Given the description of an element on the screen output the (x, y) to click on. 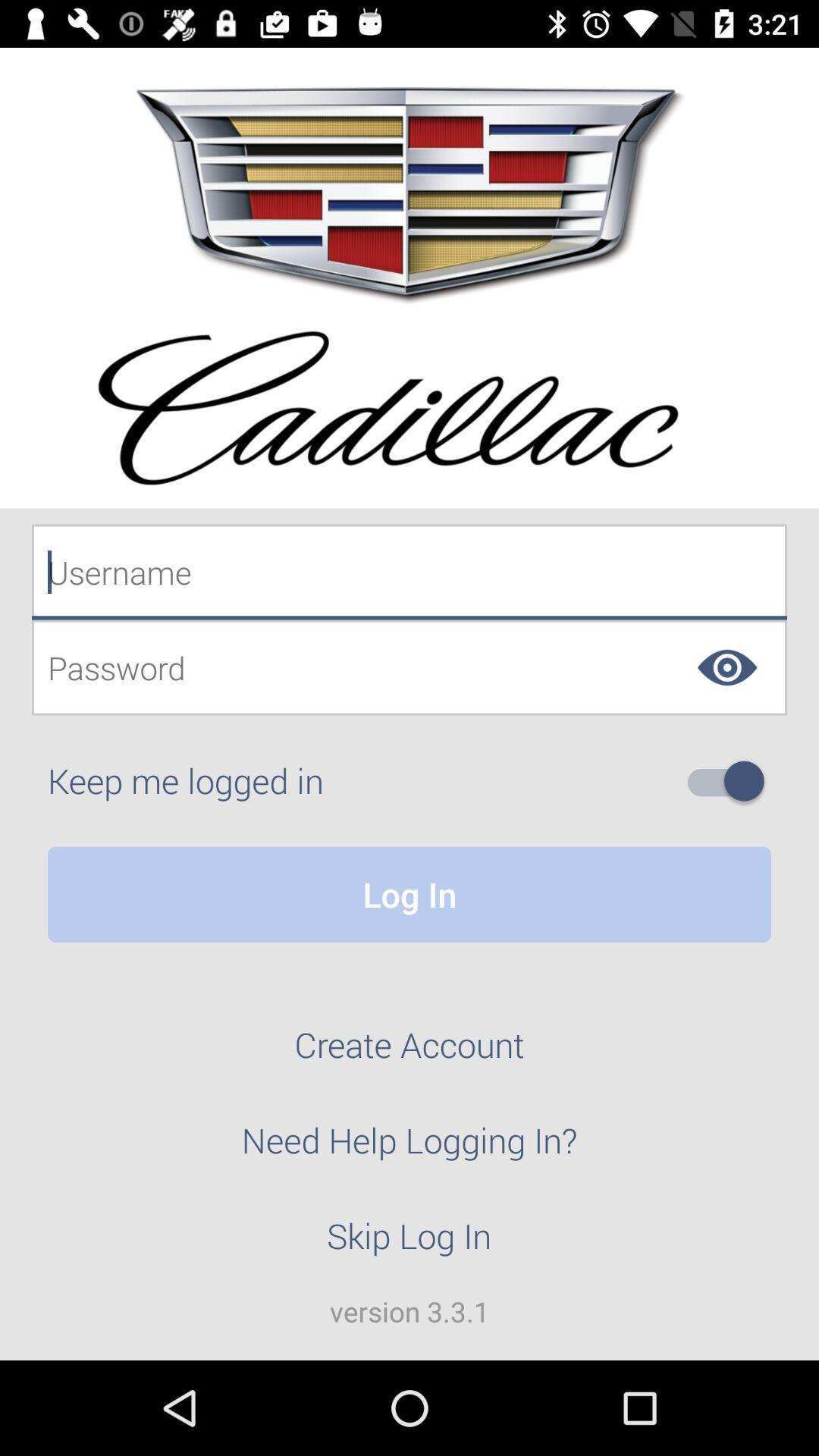
put your name (409, 571)
